Given the description of an element on the screen output the (x, y) to click on. 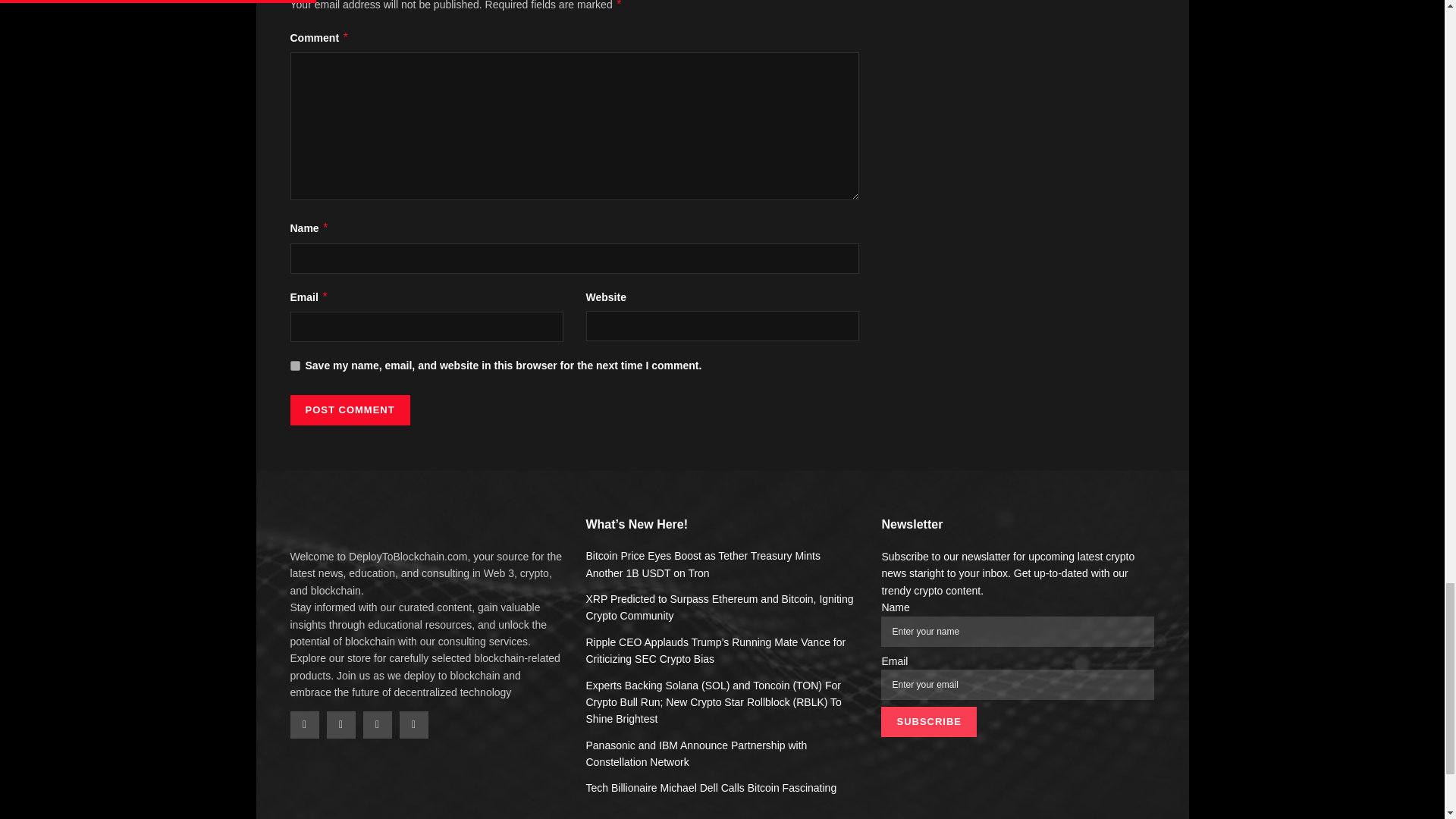
Subscribe (928, 721)
yes (294, 366)
Post Comment (349, 409)
